Given the description of an element on the screen output the (x, y) to click on. 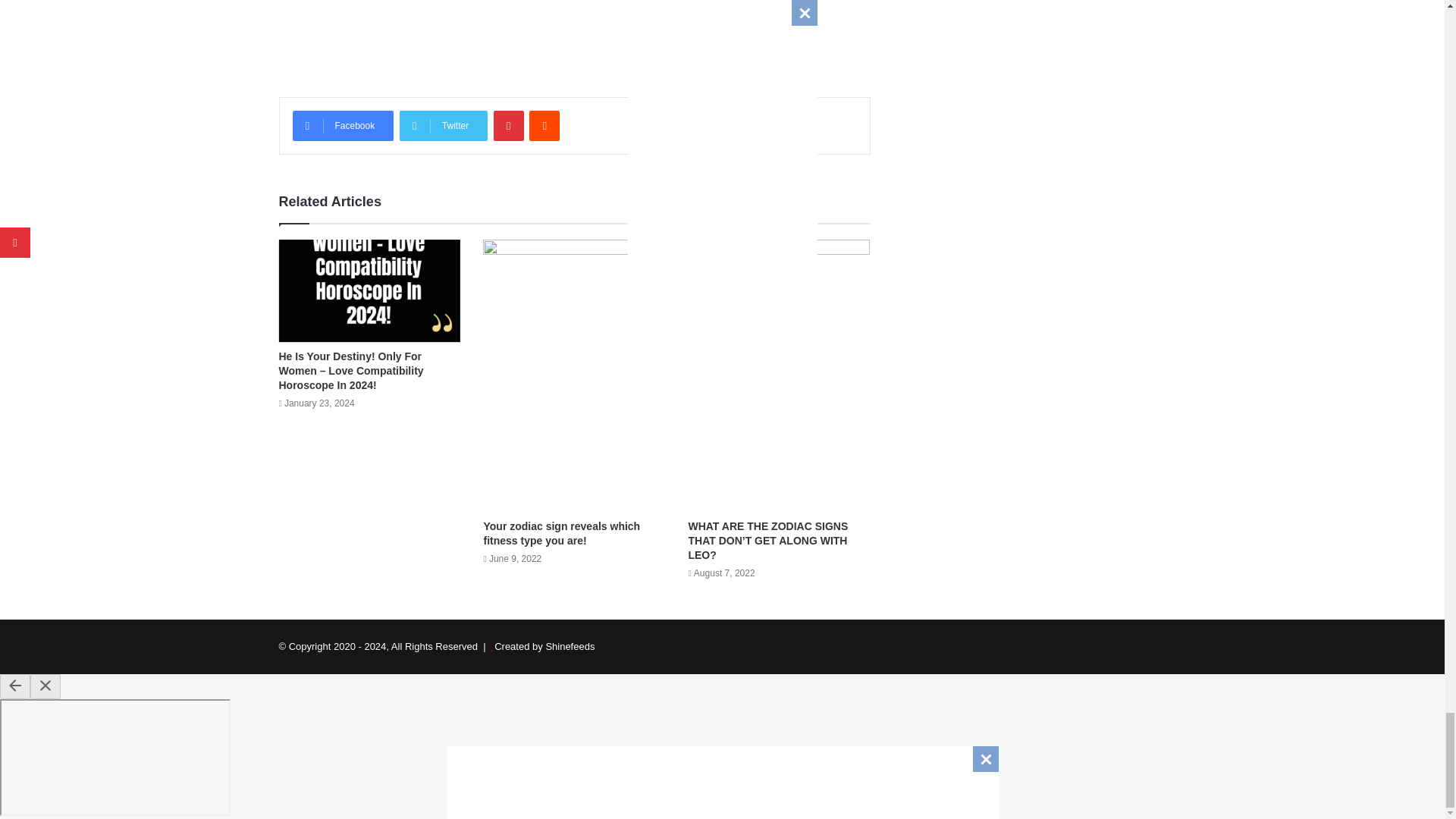
Facebook (343, 125)
Pinterest (508, 125)
Reddit (544, 125)
Twitter (442, 125)
